Given the description of an element on the screen output the (x, y) to click on. 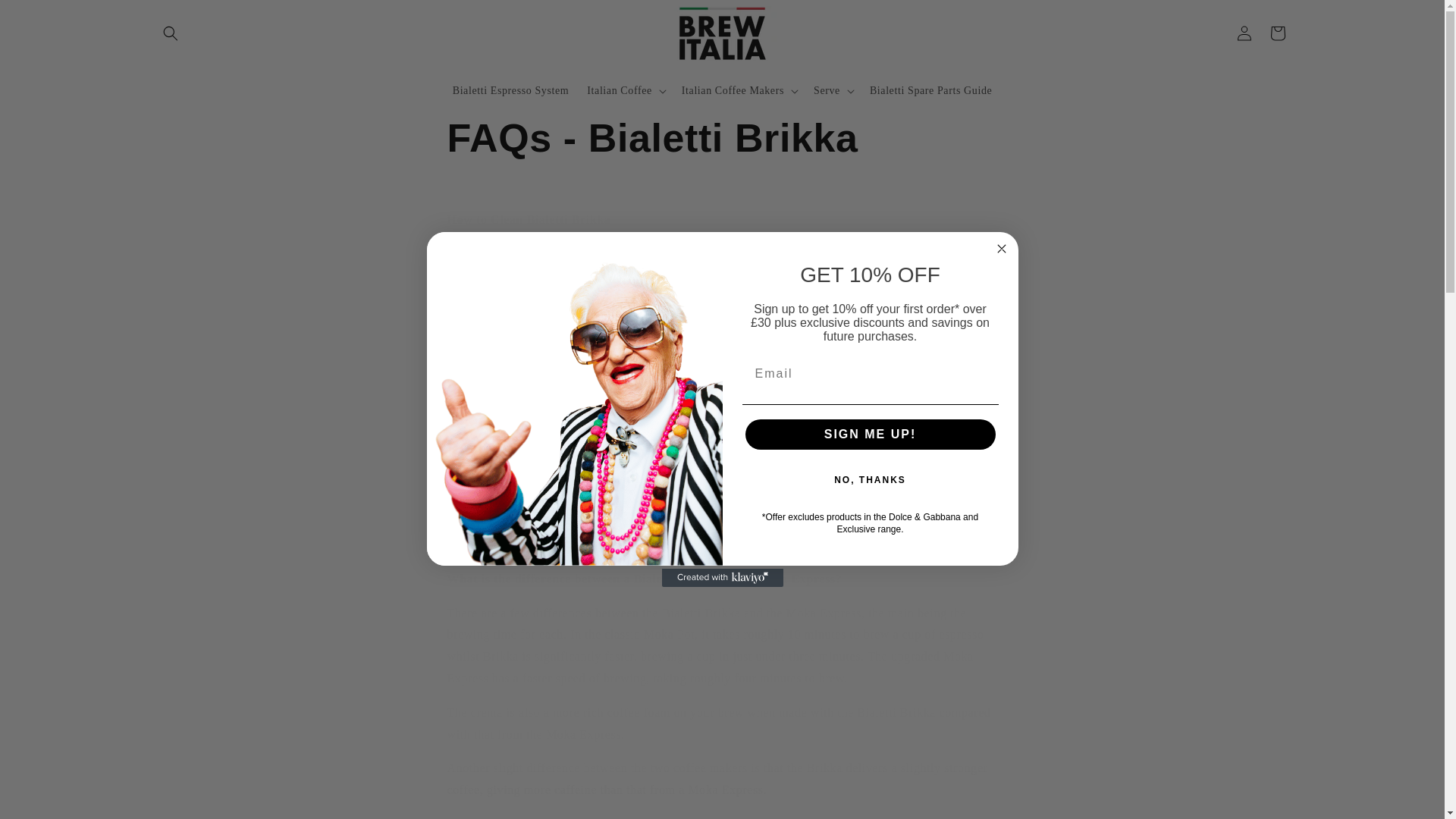
Skip to content (45, 17)
FAQs - Bialetti Brikka (721, 138)
Close dialog 1 (1000, 248)
